Given the description of an element on the screen output the (x, y) to click on. 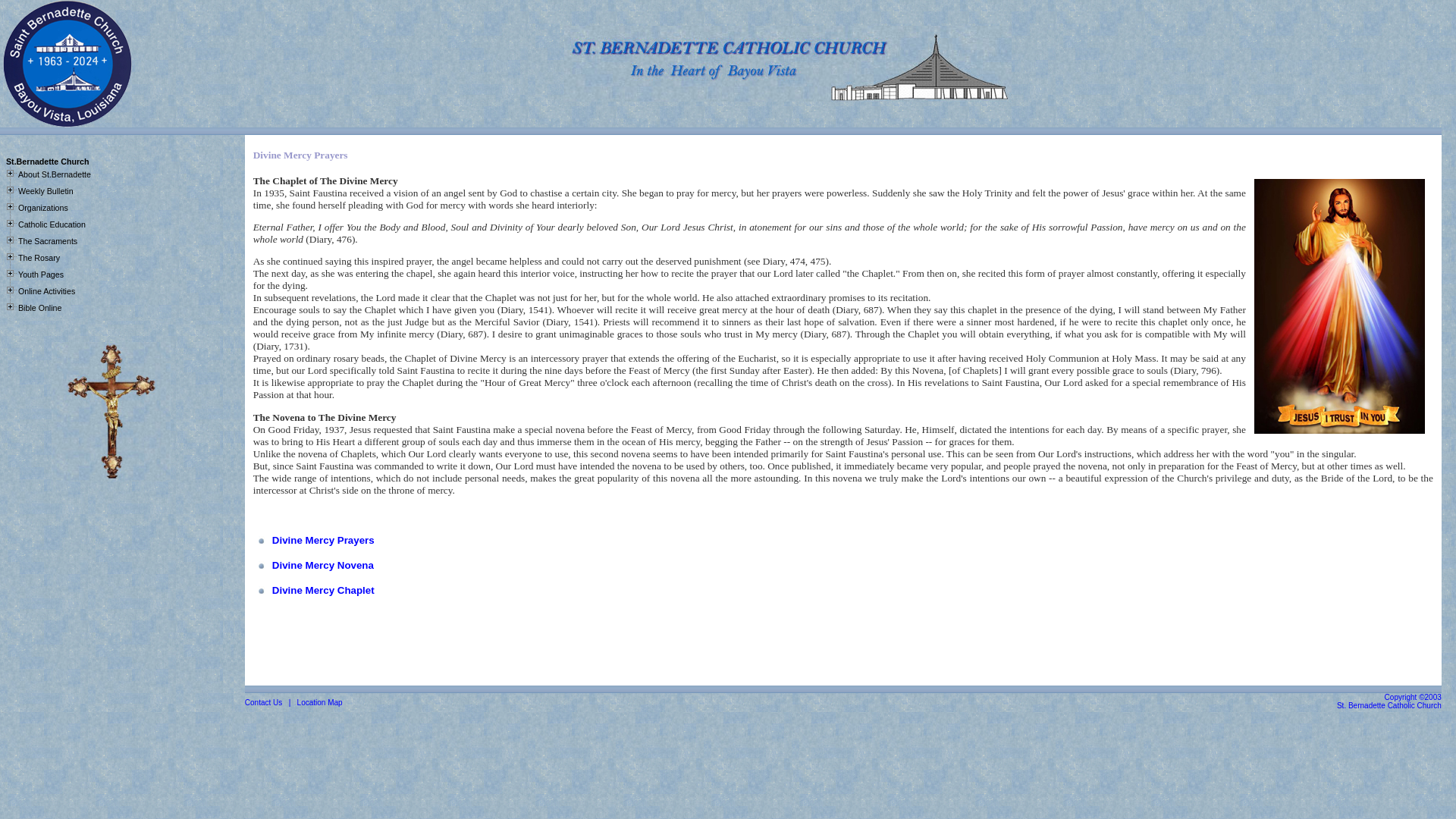
St.Bernadette Church (46, 161)
Organizations (42, 207)
Weekly Bulletin (45, 190)
About St.Bernadette (53, 174)
